Given the description of an element on the screen output the (x, y) to click on. 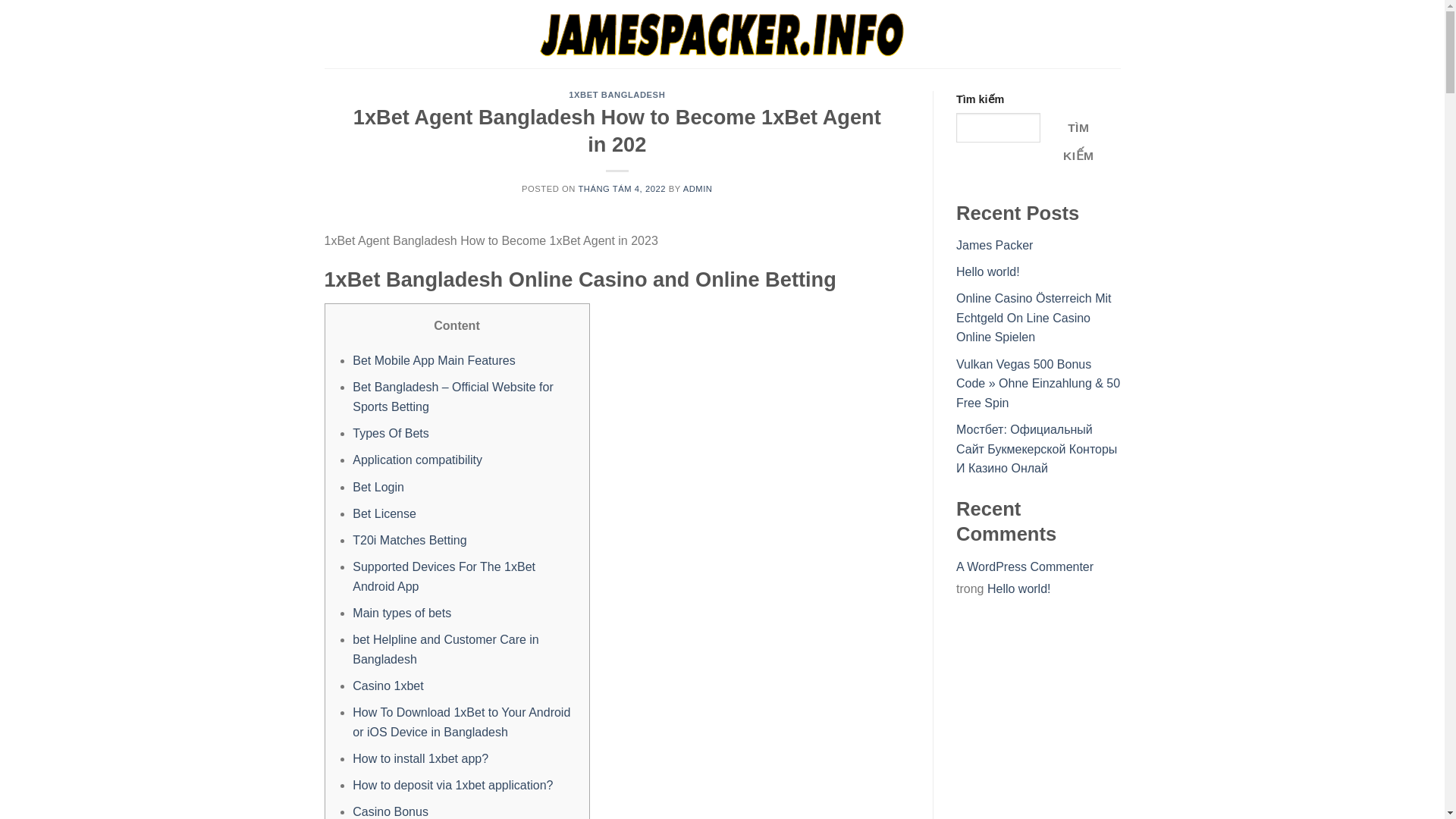
Application compatibility (416, 459)
Types Of Bets (390, 432)
Main types of bets (401, 612)
How to deposit via 1xbet application? (452, 784)
Casino 1xbet (387, 685)
bet Helpline and Customer Care in Bangladesh (445, 649)
How to install 1xbet app? (419, 758)
Casino Bonus (390, 811)
ADMIN (697, 188)
T20i Matches Betting (408, 540)
